Given the description of an element on the screen output the (x, y) to click on. 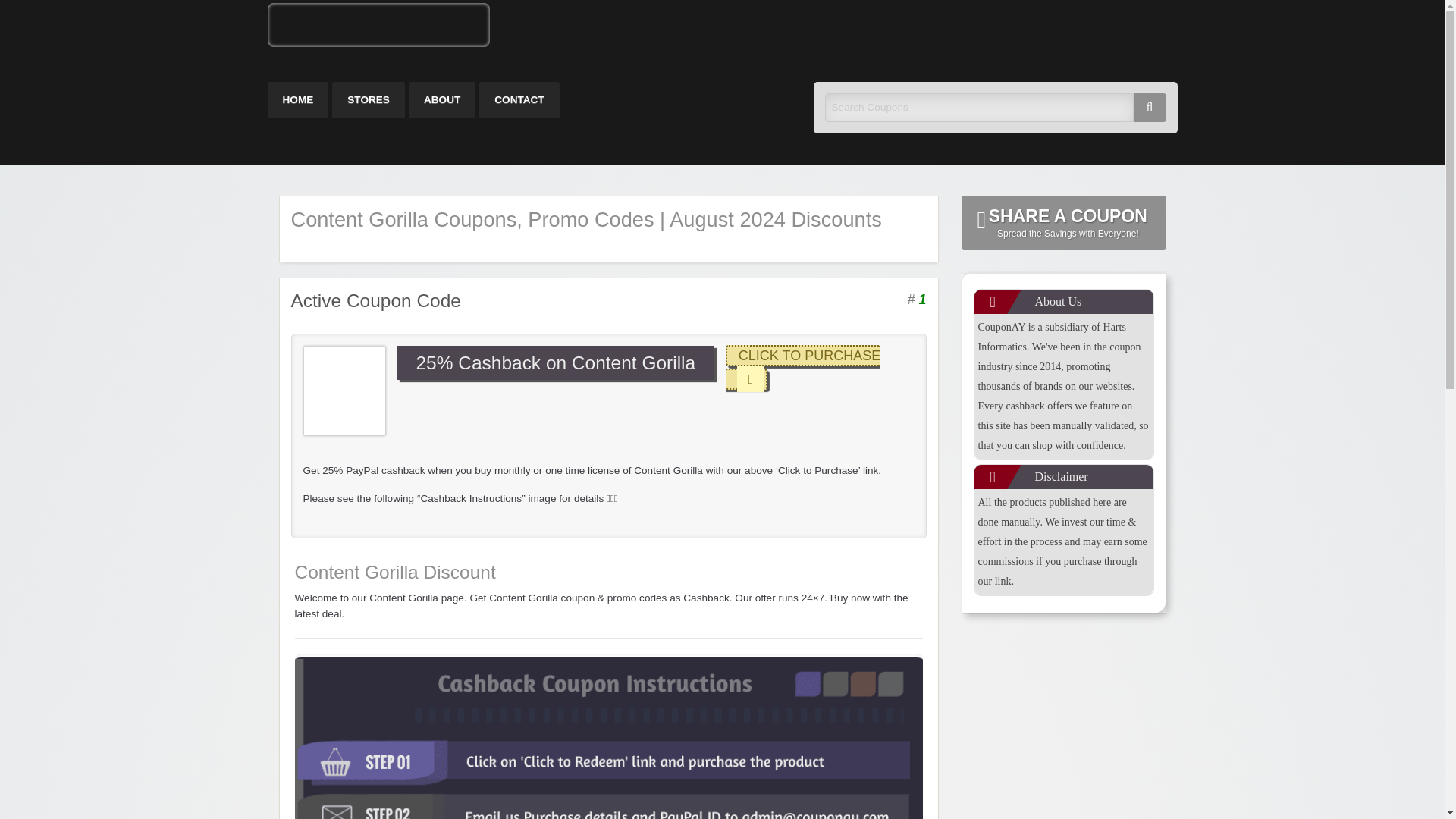
About Us (1063, 222)
ABOUT (1063, 301)
CLICK TO PURCHASE (442, 99)
STORES (802, 366)
CouponAY (367, 99)
HOME (576, 28)
Click to open site (297, 99)
Disclaimer (802, 366)
CONTACT (1063, 476)
